Given the description of an element on the screen output the (x, y) to click on. 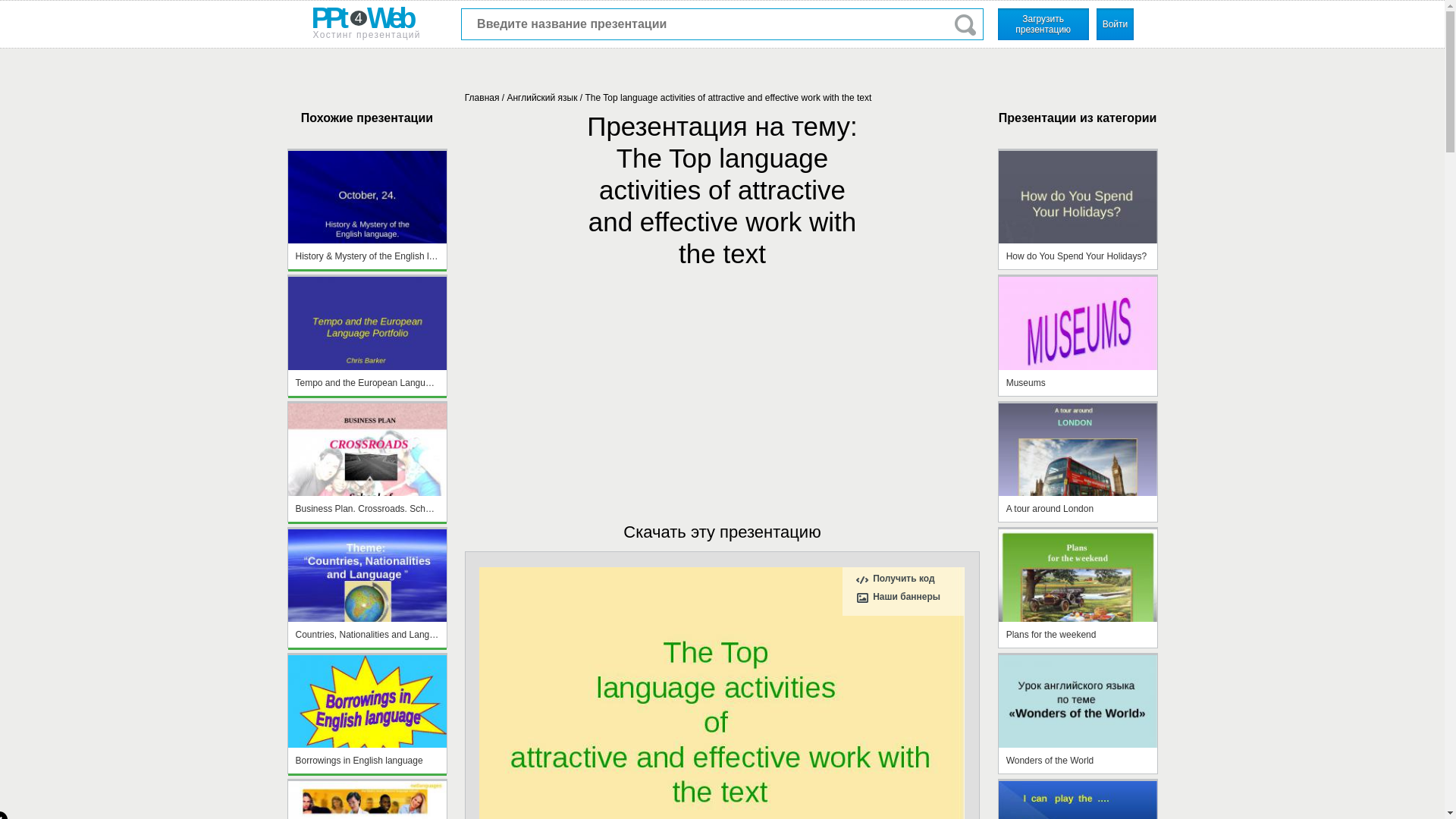
Tempo and the European Language Portfolio (367, 335)
How do You Spend Your Holidays? (1077, 266)
Countries, Nationalities and Language (367, 644)
Museums (1077, 392)
Countries, Nationalities and Language (367, 588)
Borrowings in English language (367, 760)
Borrowings in English language (367, 769)
Business Plan. Crossroads. School of languages (367, 508)
Business Plan. Crossroads. School of languages (367, 518)
Wonders of the World (1077, 769)
Business Plan. Crossroads. School of languages (367, 462)
Tempo and the European Language Portfolio (367, 382)
A tour around London (1077, 518)
Countries, Nationalities and Language (367, 634)
Net Languages (367, 800)
